Given the description of an element on the screen output the (x, y) to click on. 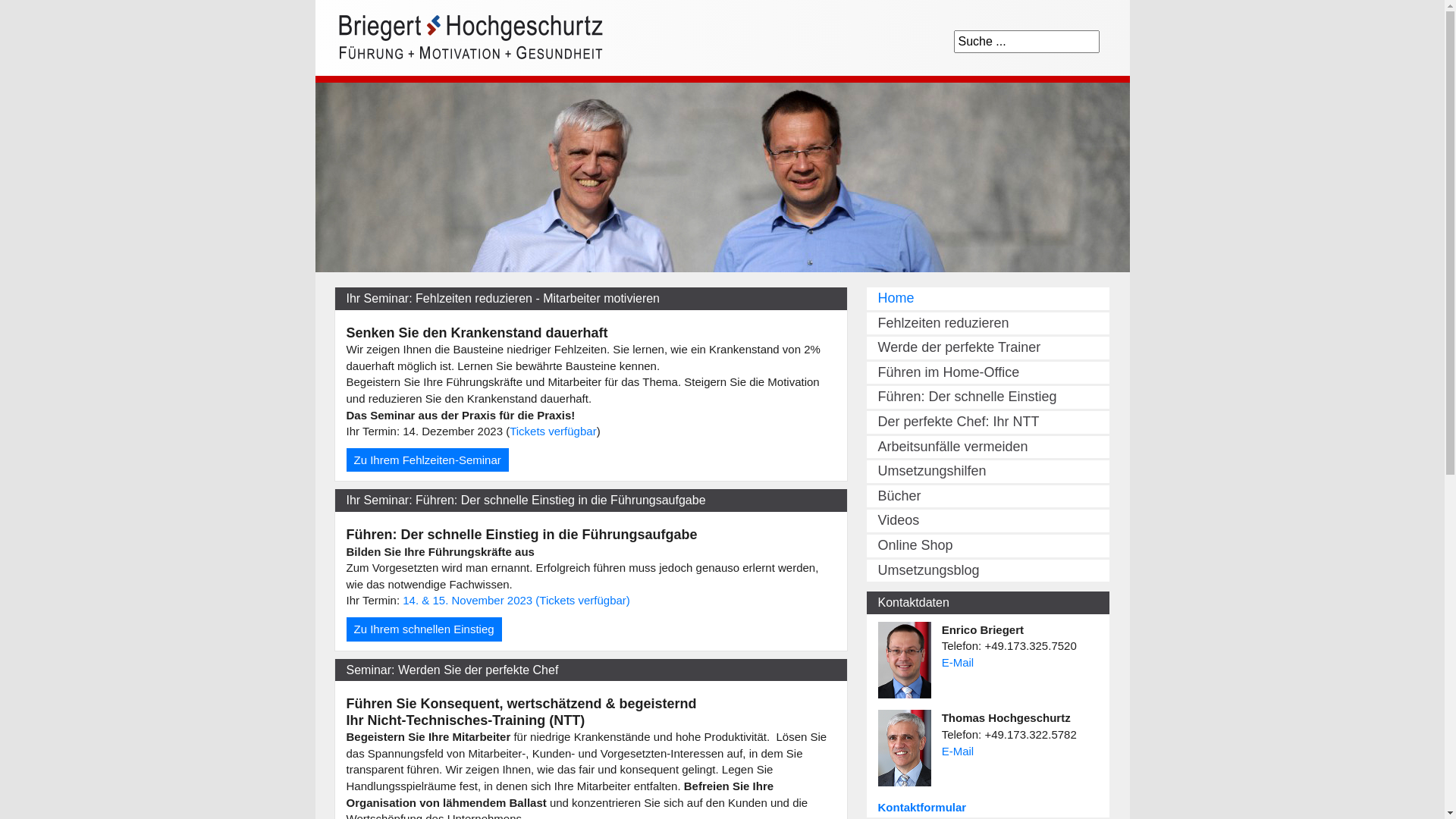
Zu Ihrem Fehlzeiten-Seminar Element type: text (426, 460)
Online Shop Element type: text (987, 545)
E-Mail Element type: text (957, 750)
Der perfekte Chef: Ihr NTT Element type: text (987, 422)
Umsetzungsblog Element type: text (987, 570)
Home Element type: text (987, 298)
Werde der perfekte Trainer Element type: text (987, 347)
Kontaktformular Element type: text (922, 806)
E-Mail Element type: text (957, 661)
Videos Element type: text (987, 520)
Zu Ihrem schnellen Einstieg Element type: text (423, 629)
Fehlzeiten reduzieren Element type: text (987, 323)
Umsetzungshilfen Element type: text (987, 471)
